Given the description of an element on the screen output the (x, y) to click on. 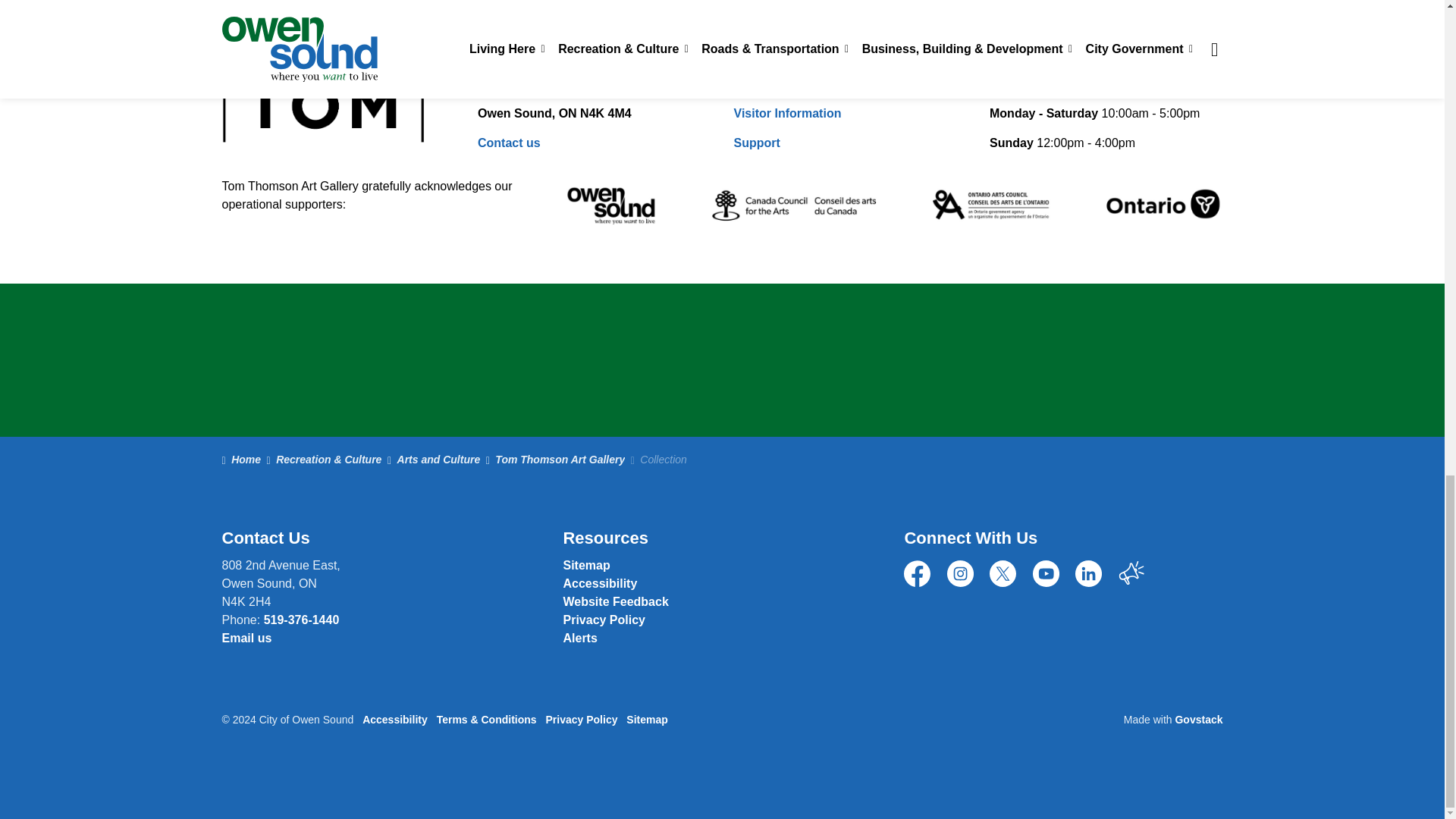
Privacy Policy (603, 619)
About Us (777, 83)
Staff Directory (508, 142)
News and Public Notices (579, 637)
Contacts Directory (245, 637)
Accessibility (599, 583)
Support (756, 142)
Sitemap (586, 564)
Contacts Directory (615, 601)
Visit (787, 113)
